Given the description of an element on the screen output the (x, y) to click on. 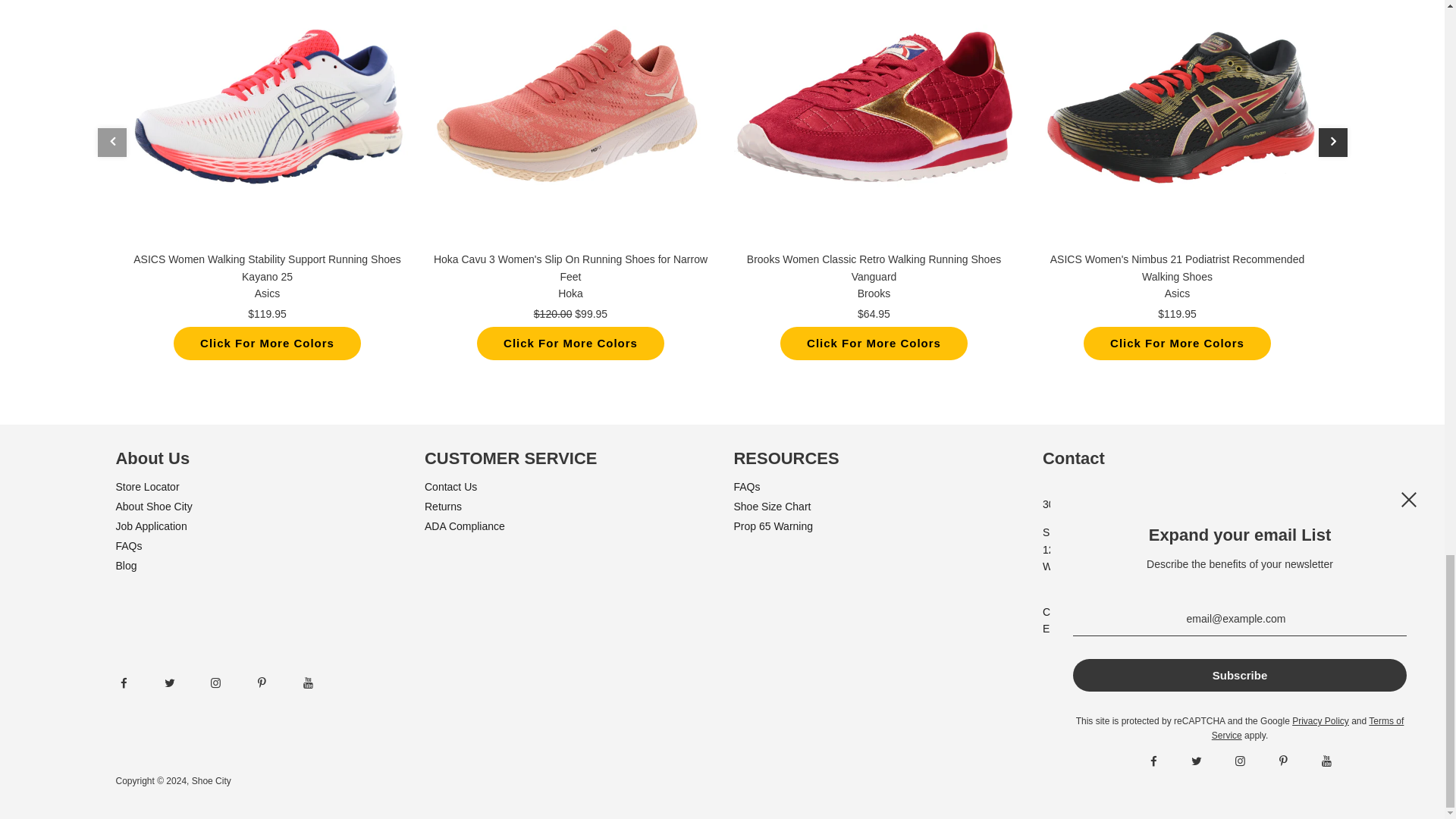
Brooks Women Classic Retro Walking Running Shoes Vanguard (873, 123)
ASICS Women's Nimbus 21 Podiatrist Recommended Walking Shoes (1176, 123)
Hoka Cavu 3 Women's Slip On Running Shoes for Narrow Feet (570, 123)
